Given the description of an element on the screen output the (x, y) to click on. 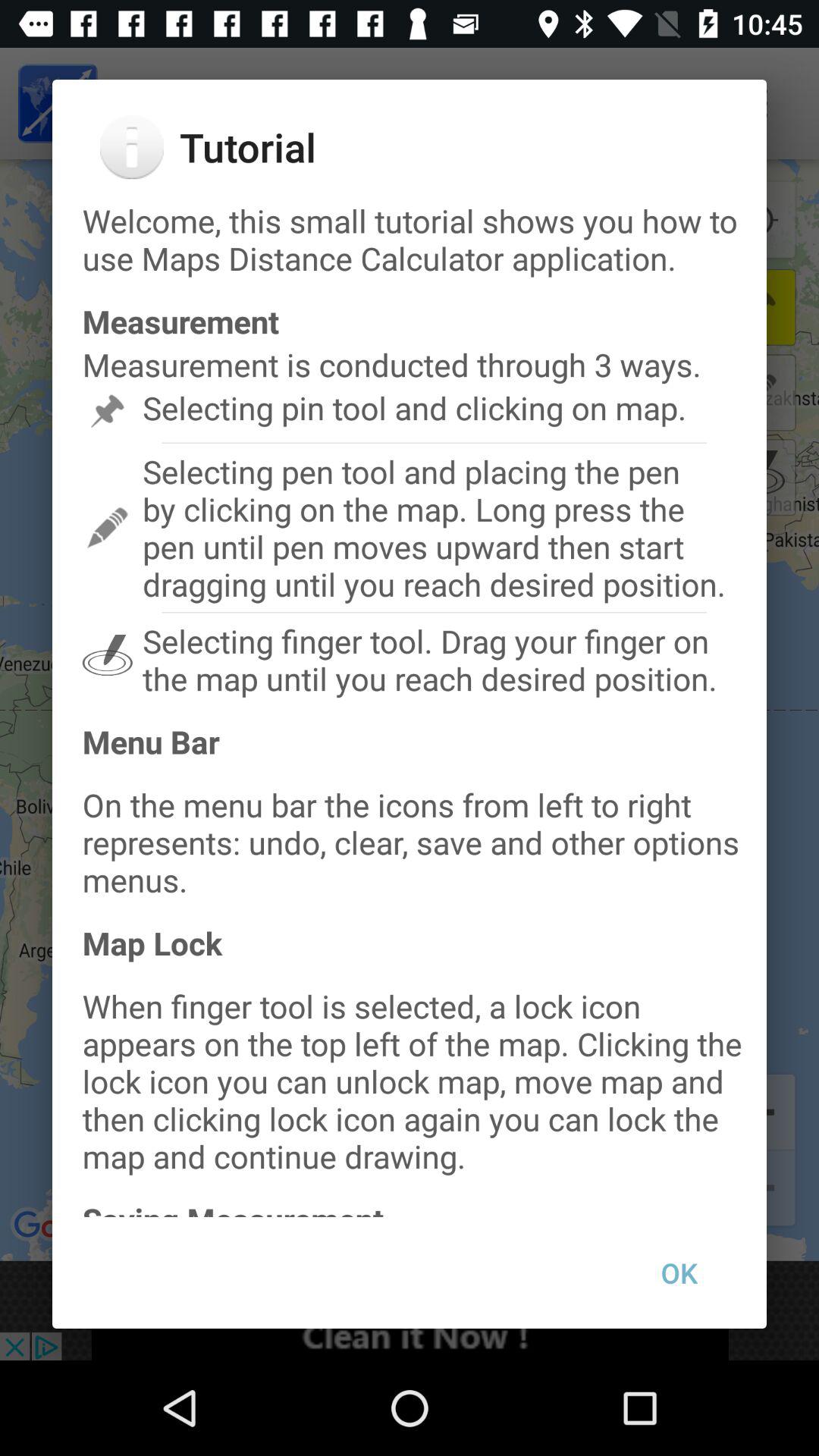
turn on ok at the bottom right corner (678, 1272)
